Given the description of an element on the screen output the (x, y) to click on. 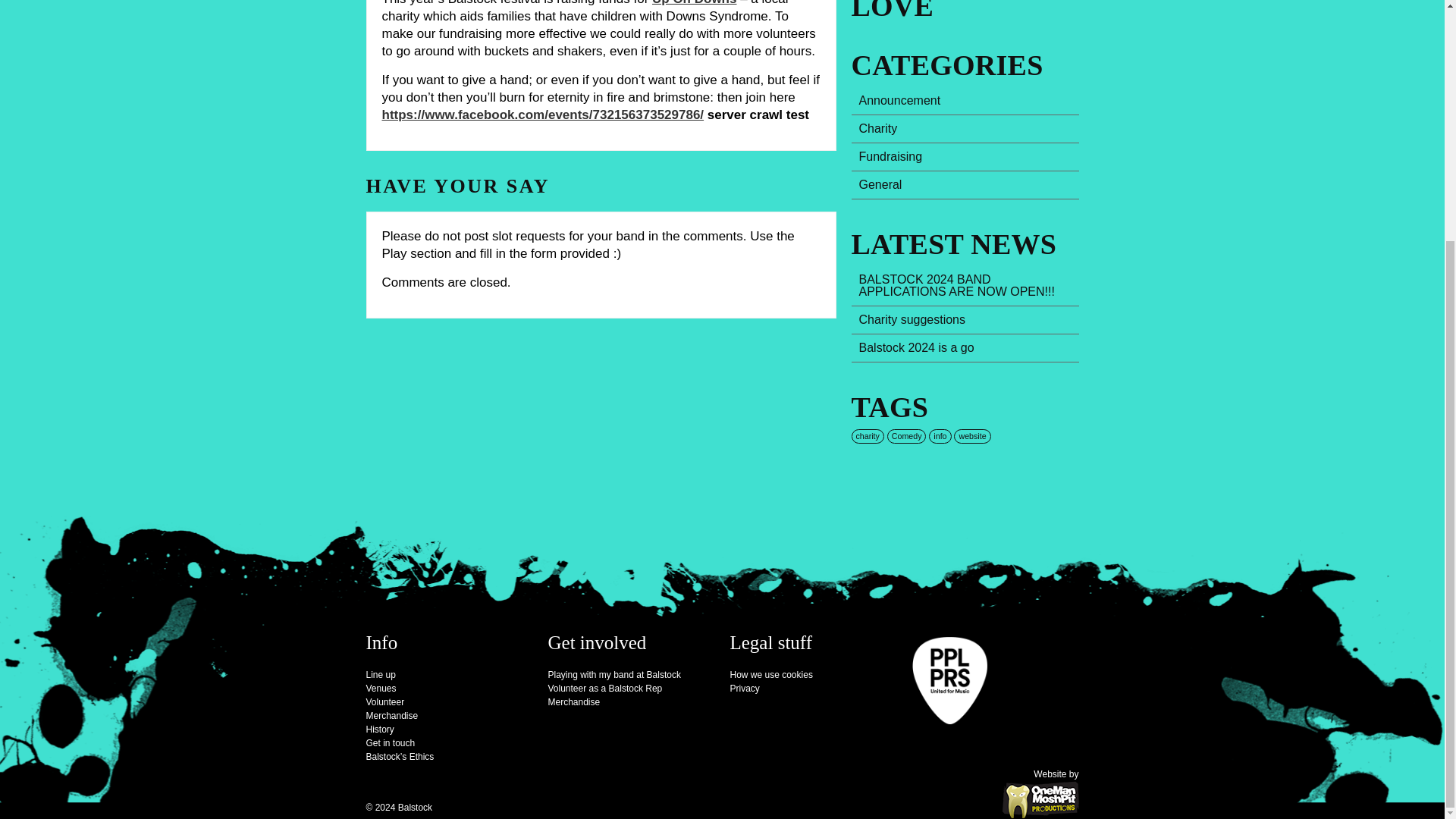
Up On Downs (694, 2)
server crawl test (758, 114)
crawl test (758, 114)
